Given the description of an element on the screen output the (x, y) to click on. 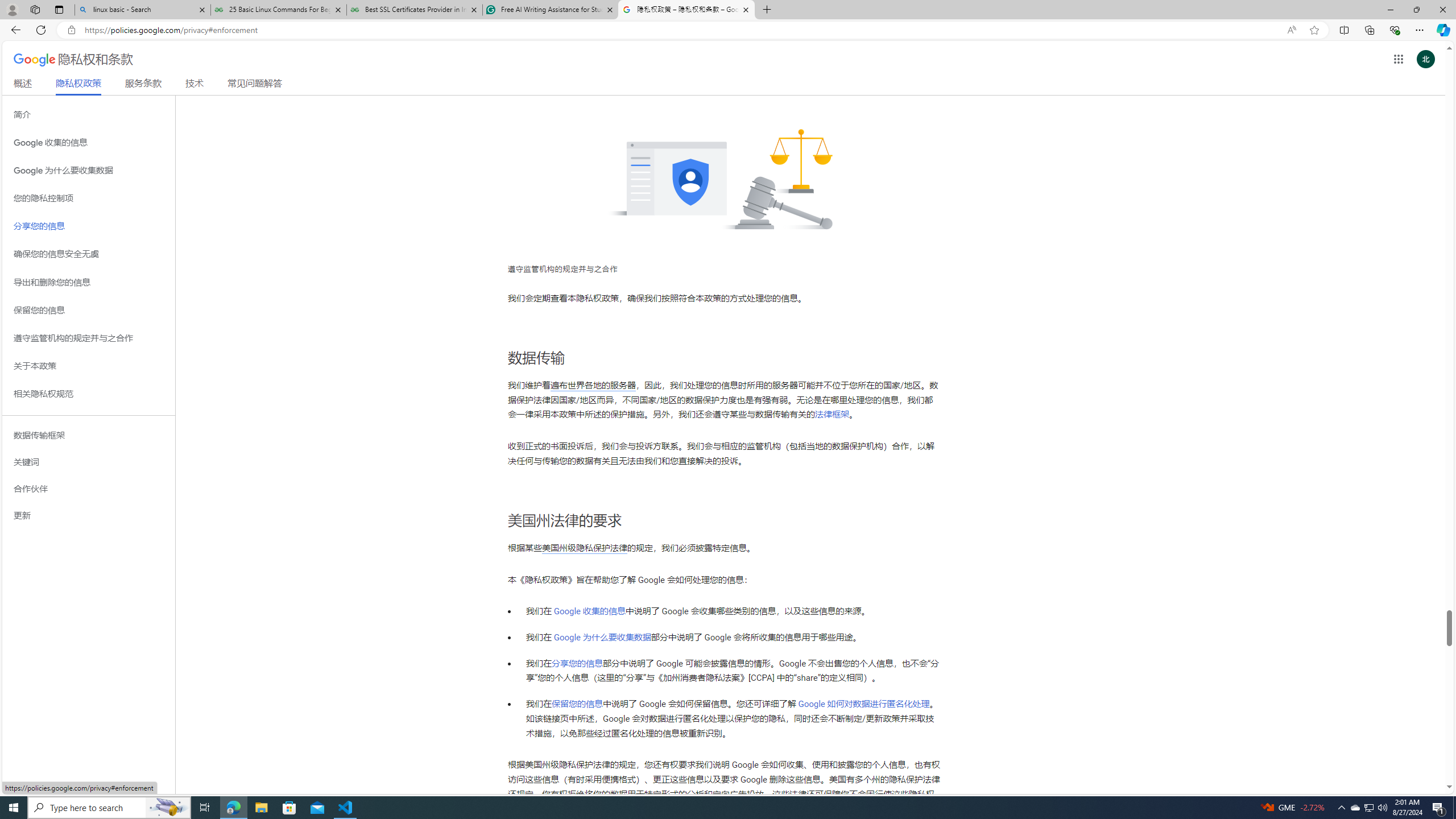
Free AI Writing Assistance for Students | Grammarly (550, 9)
